Given the description of an element on the screen output the (x, y) to click on. 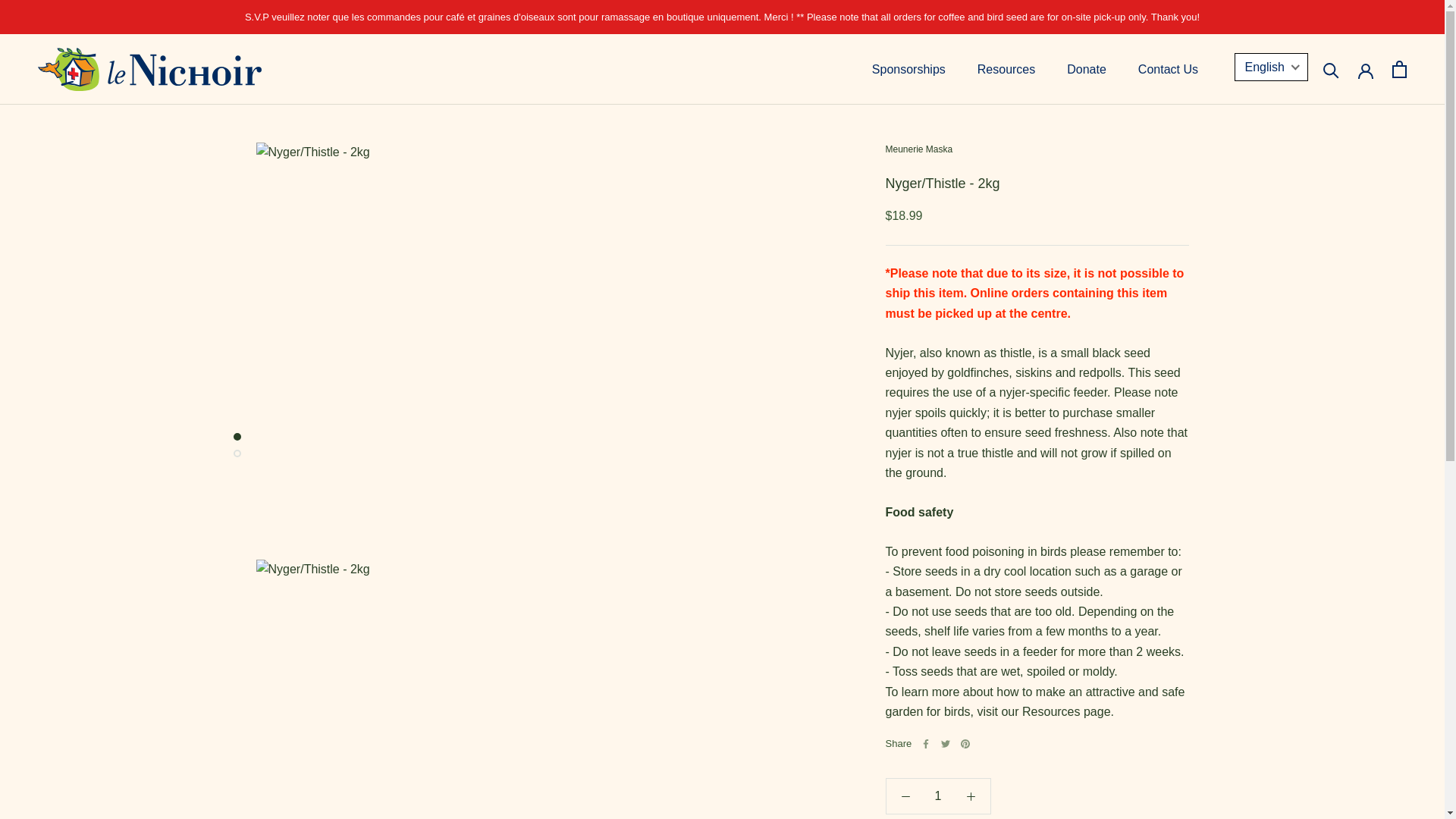
1 (1168, 68)
